Given the description of an element on the screen output the (x, y) to click on. 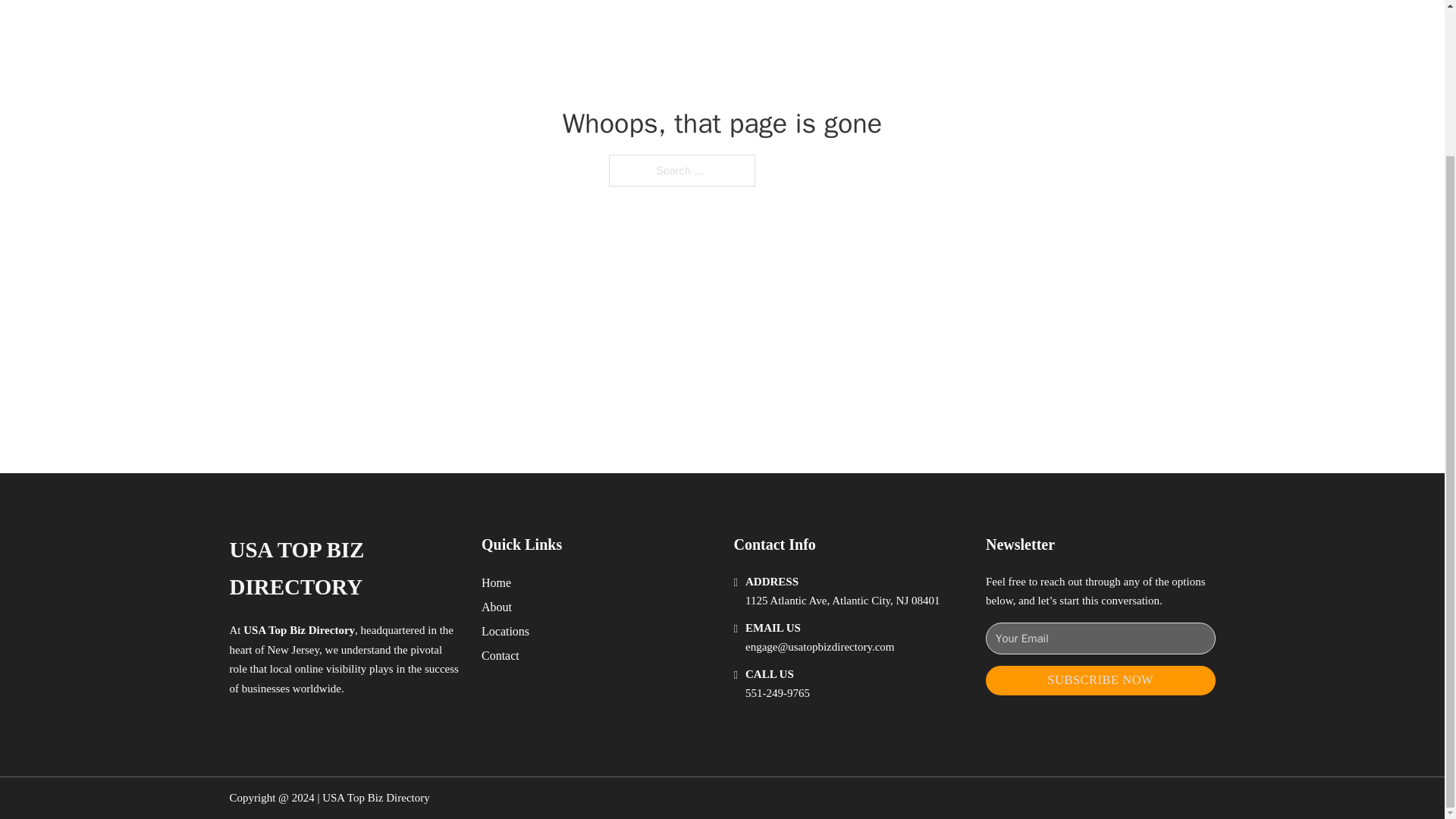
SUBSCRIBE NOW (1100, 680)
Contact (500, 655)
USA TOP BIZ DIRECTORY (343, 568)
About (496, 607)
551-249-9765 (777, 693)
Locations (505, 630)
Home (496, 582)
